Given the description of an element on the screen output the (x, y) to click on. 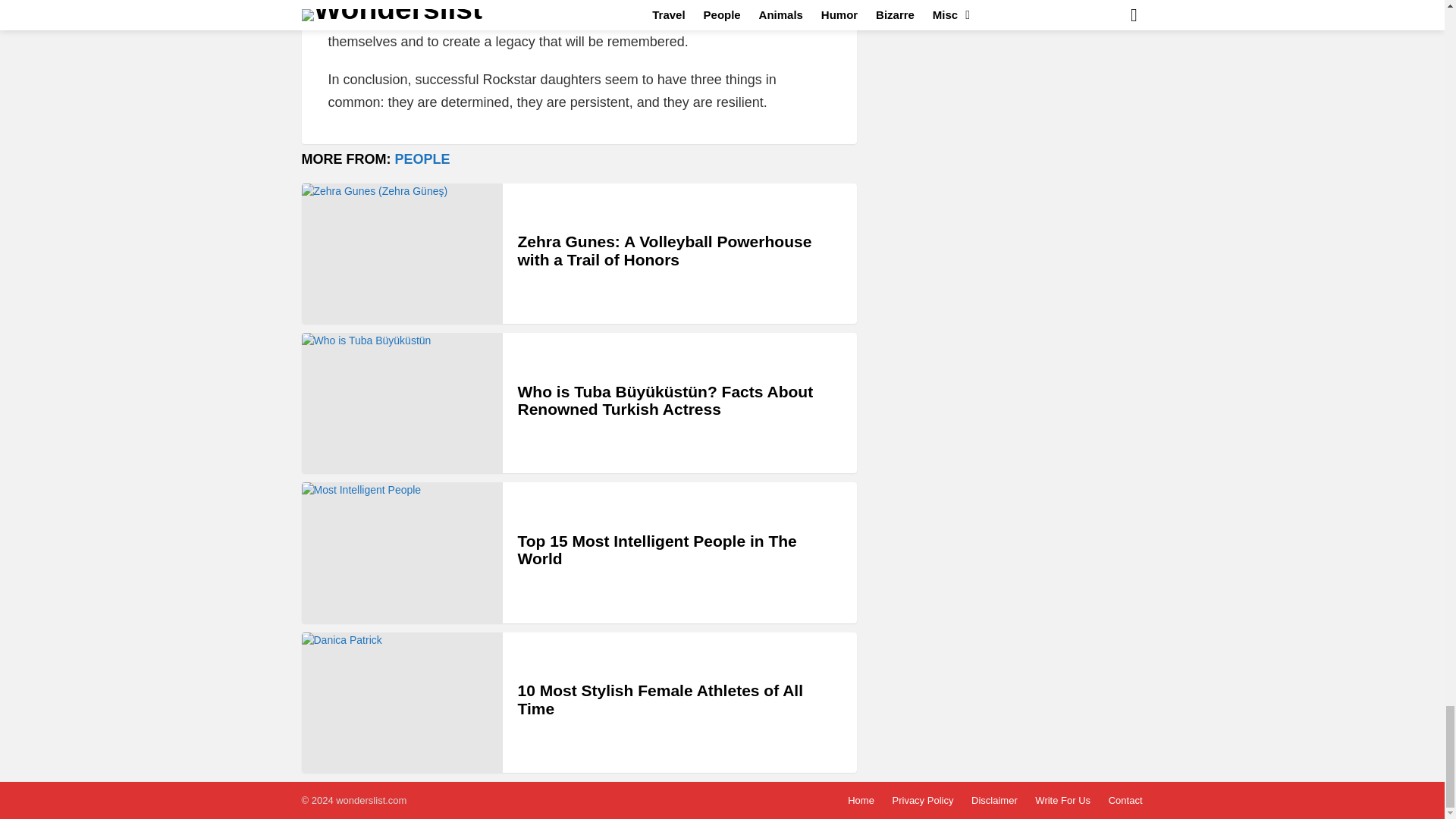
Top 15 Most Intelligent People in The World (401, 552)
10 Most Stylish Female Athletes of All Time (401, 702)
Zehra Gunes: A Volleyball Powerhouse with a Trail of Honors (401, 253)
